Given the description of an element on the screen output the (x, y) to click on. 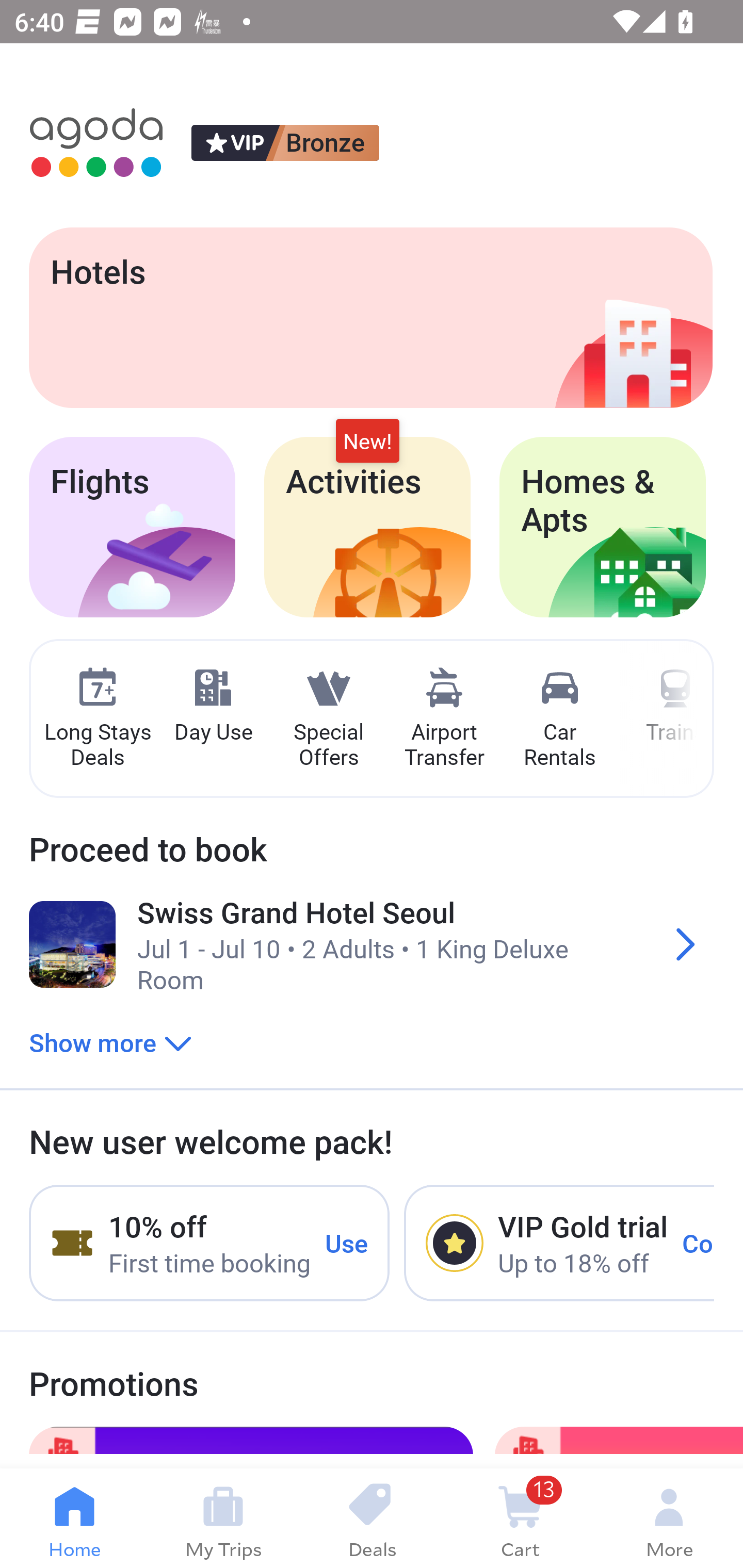
Hotels (370, 317)
New! (367, 441)
Flights (131, 527)
Activities (367, 527)
Homes & Apts (602, 527)
Day Use (213, 706)
Long Stays Deals (97, 718)
Special Offers (328, 718)
Airport Transfer (444, 718)
Car Rentals (559, 718)
Show more (110, 1041)
Use (346, 1242)
Home (74, 1518)
My Trips (222, 1518)
Deals (371, 1518)
13 Cart (519, 1518)
More (668, 1518)
